Given the description of an element on the screen output the (x, y) to click on. 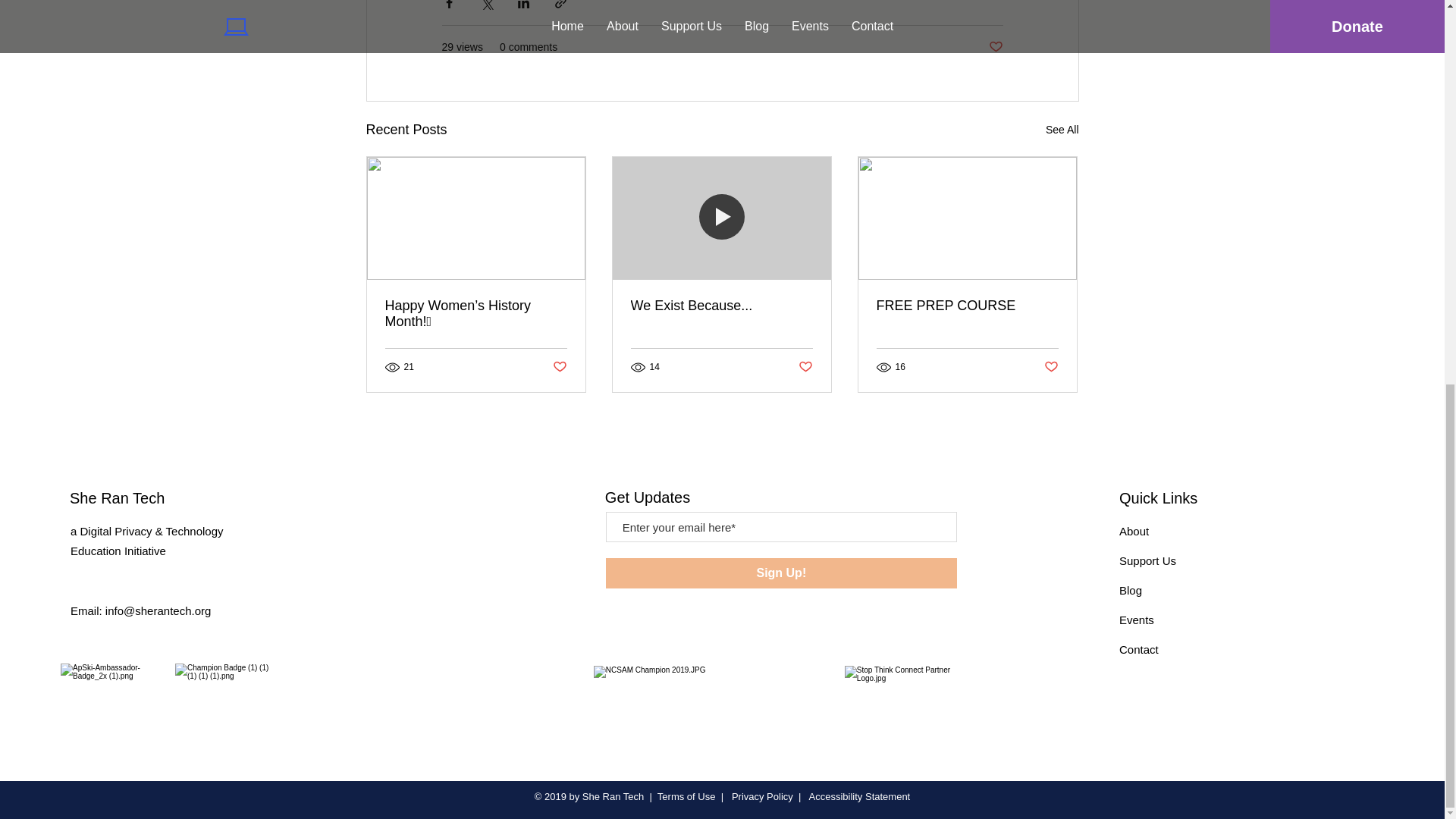
Sign Up! (780, 572)
Post not marked as liked (558, 366)
Post not marked as liked (1050, 366)
See All (1061, 129)
We Exist Because... (721, 305)
Post not marked as liked (995, 47)
Support Us (1147, 560)
About (1133, 530)
FREE PREP COURSE (967, 305)
Post not marked as liked (804, 366)
